Given the description of an element on the screen output the (x, y) to click on. 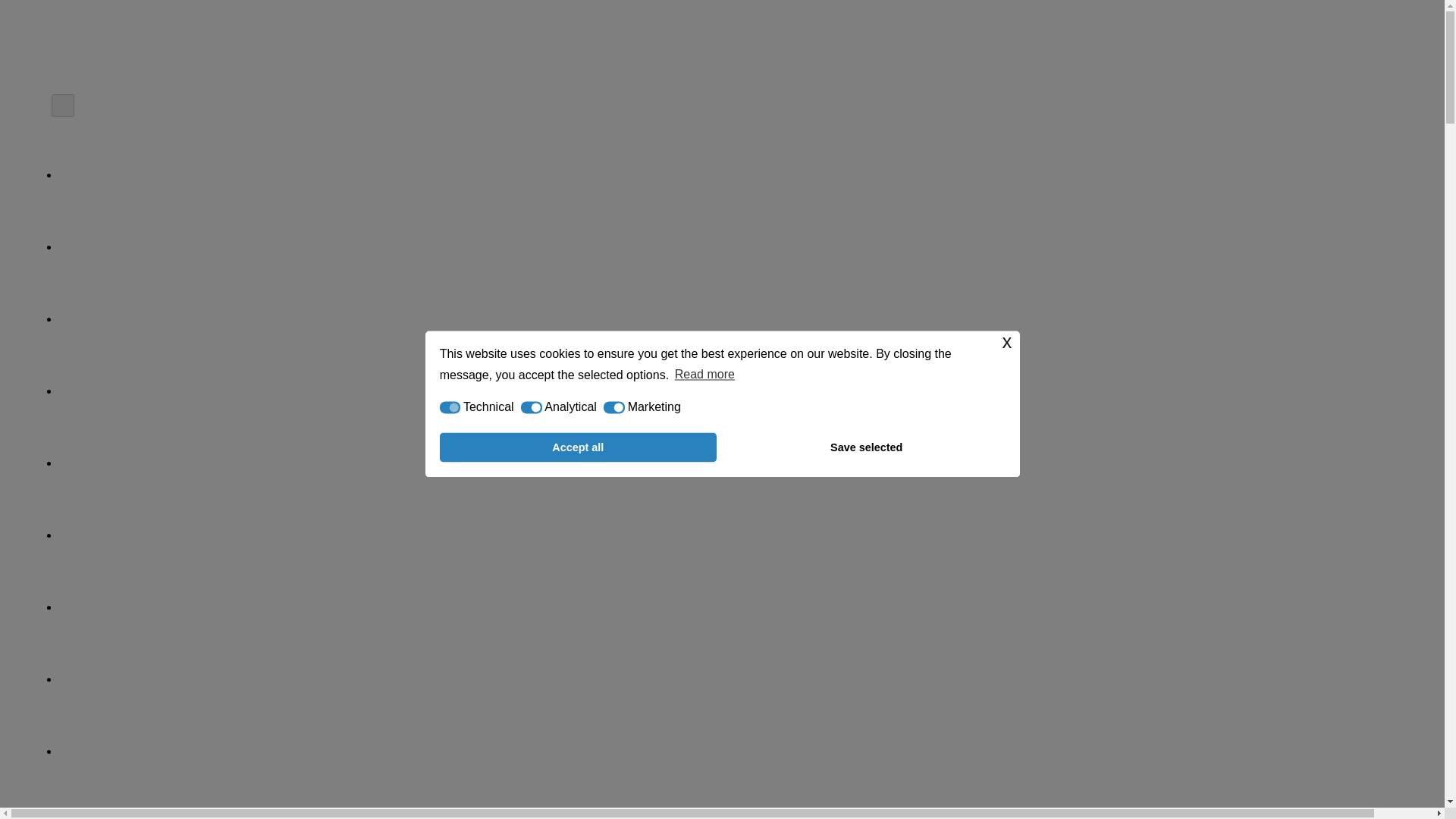
About us (737, 176)
Save selected (866, 447)
Sale Of Containers (737, 248)
Customs (737, 680)
Terminal (737, 608)
Modifications (737, 392)
Transport (737, 536)
Rental Of Containers (737, 320)
Read more (705, 374)
For carriers (737, 752)
